Given the description of an element on the screen output the (x, y) to click on. 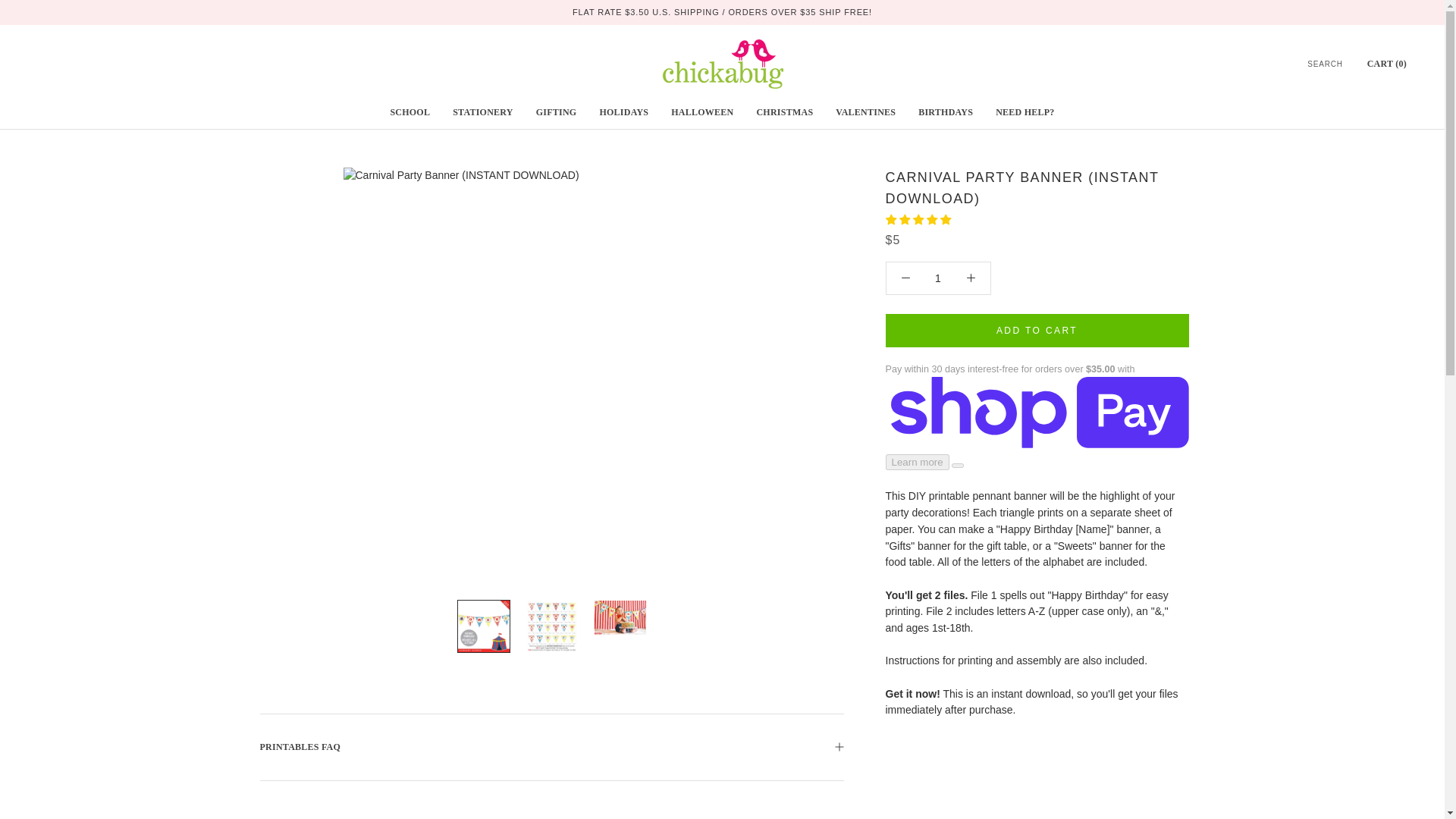
Halloween (701, 112)
Christmas (784, 112)
Holidays (623, 112)
Need Help? (1024, 112)
Stationery (482, 112)
Gifting (556, 112)
Valentines (865, 112)
Birthdays (945, 112)
1 (938, 277)
School (409, 112)
